Given the description of an element on the screen output the (x, y) to click on. 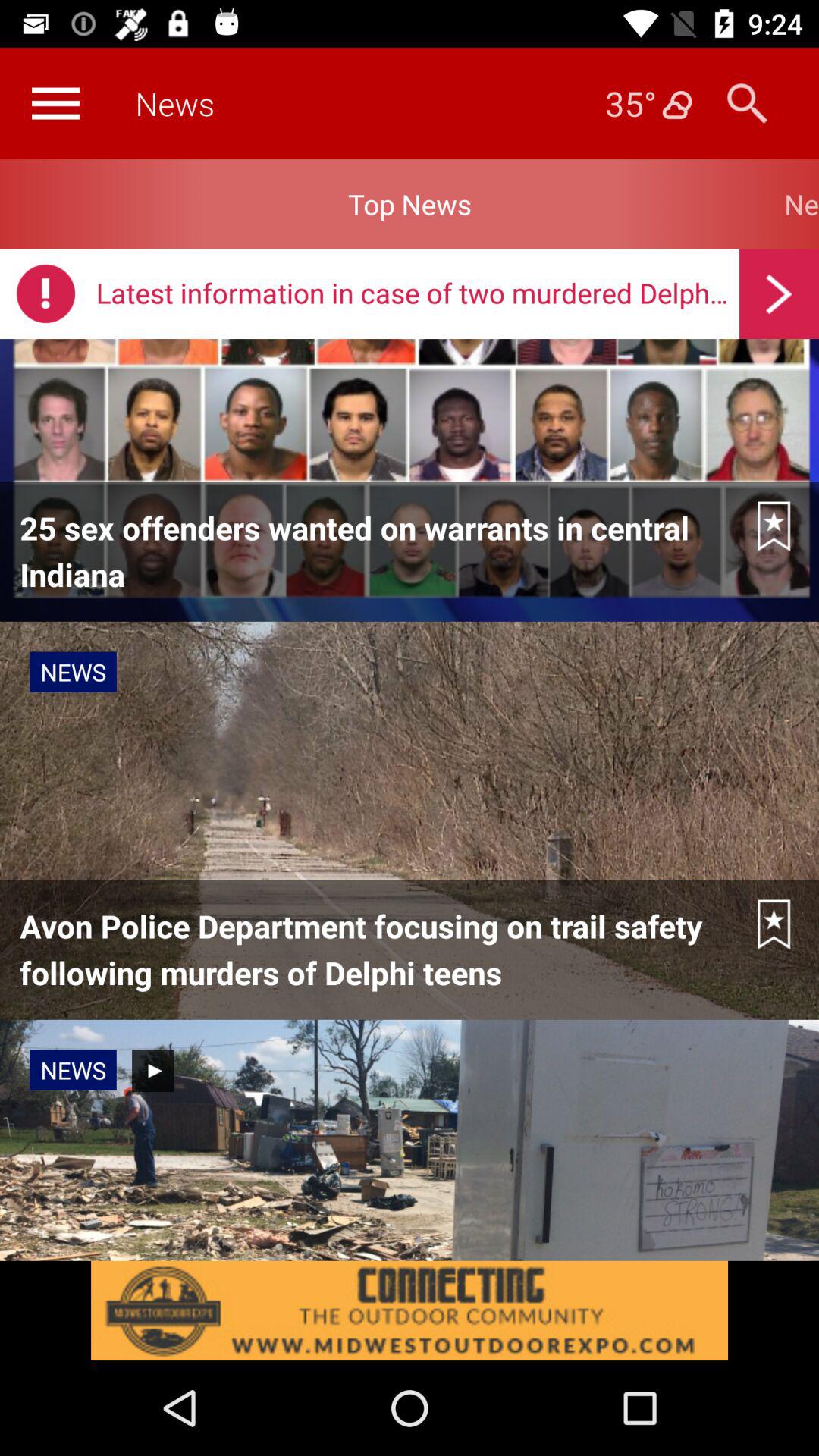
go to search bar (747, 103)
